Given the description of an element on the screen output the (x, y) to click on. 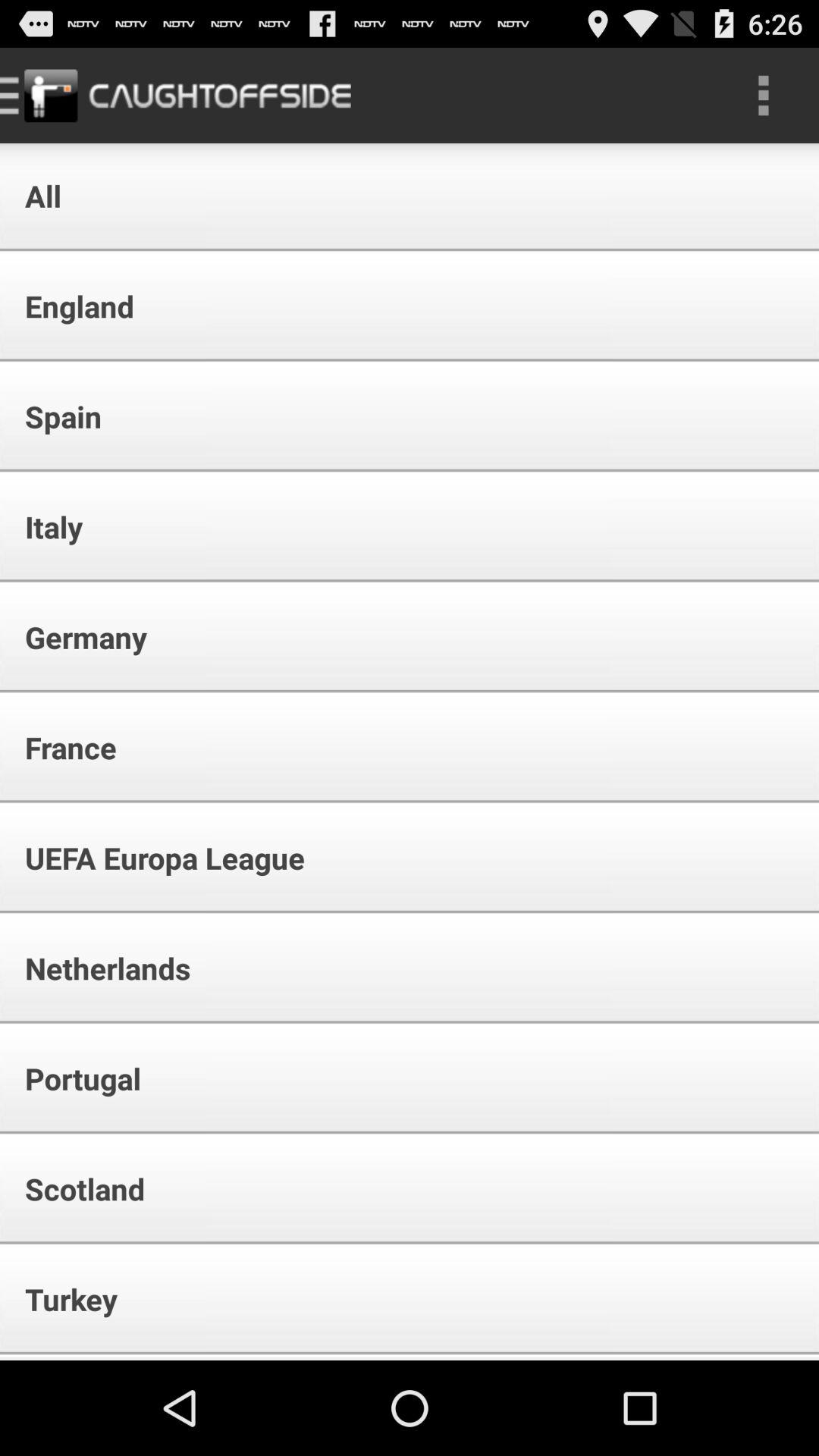
flip until the germany app (76, 637)
